Given the description of an element on the screen output the (x, y) to click on. 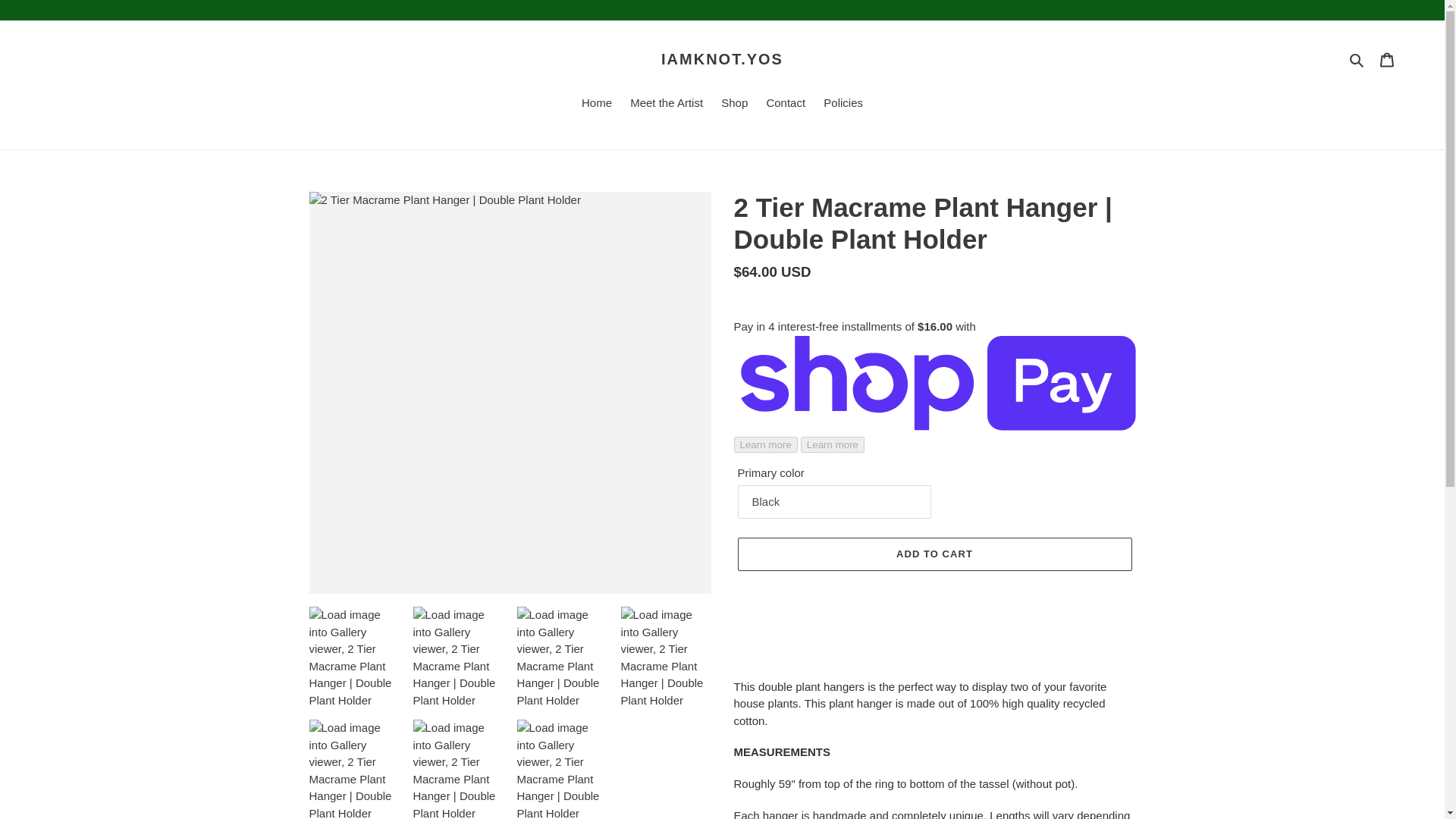
IAMKNOT.YOS (722, 58)
Policies (842, 103)
Search (1357, 58)
ADD TO CART (933, 553)
Cart (1387, 59)
Shop (734, 103)
Contact (785, 103)
Meet the Artist (666, 103)
Home (596, 103)
